Given the description of an element on the screen output the (x, y) to click on. 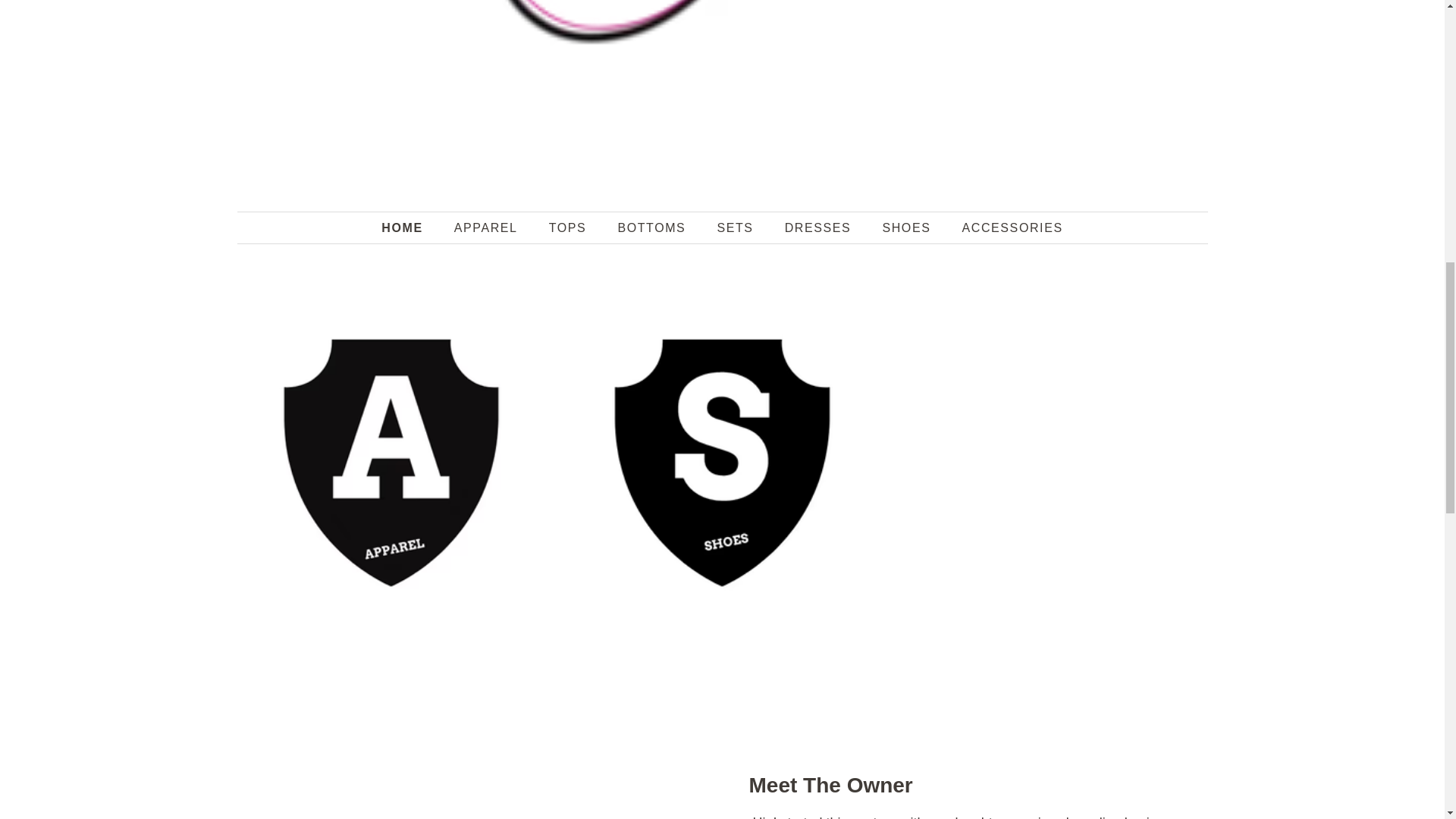
HOME (409, 227)
TOPS (569, 227)
DRESSES (819, 227)
SETS (736, 227)
BOTTOMS (652, 227)
SHOES (907, 227)
APPAREL (487, 227)
ACCESSORIES (1006, 227)
